Given the description of an element on the screen output the (x, y) to click on. 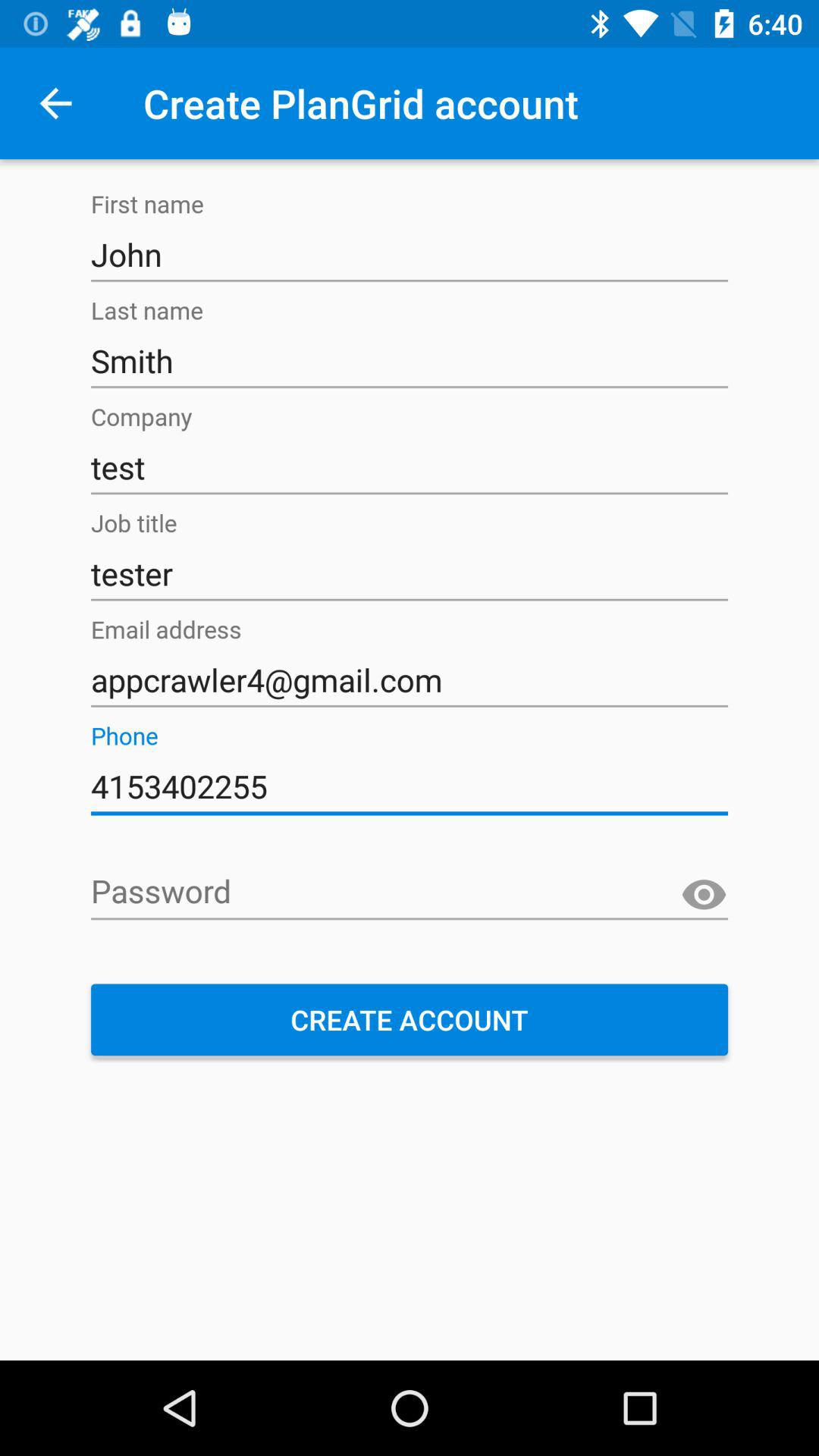
swipe until the tester icon (409, 573)
